Given the description of an element on the screen output the (x, y) to click on. 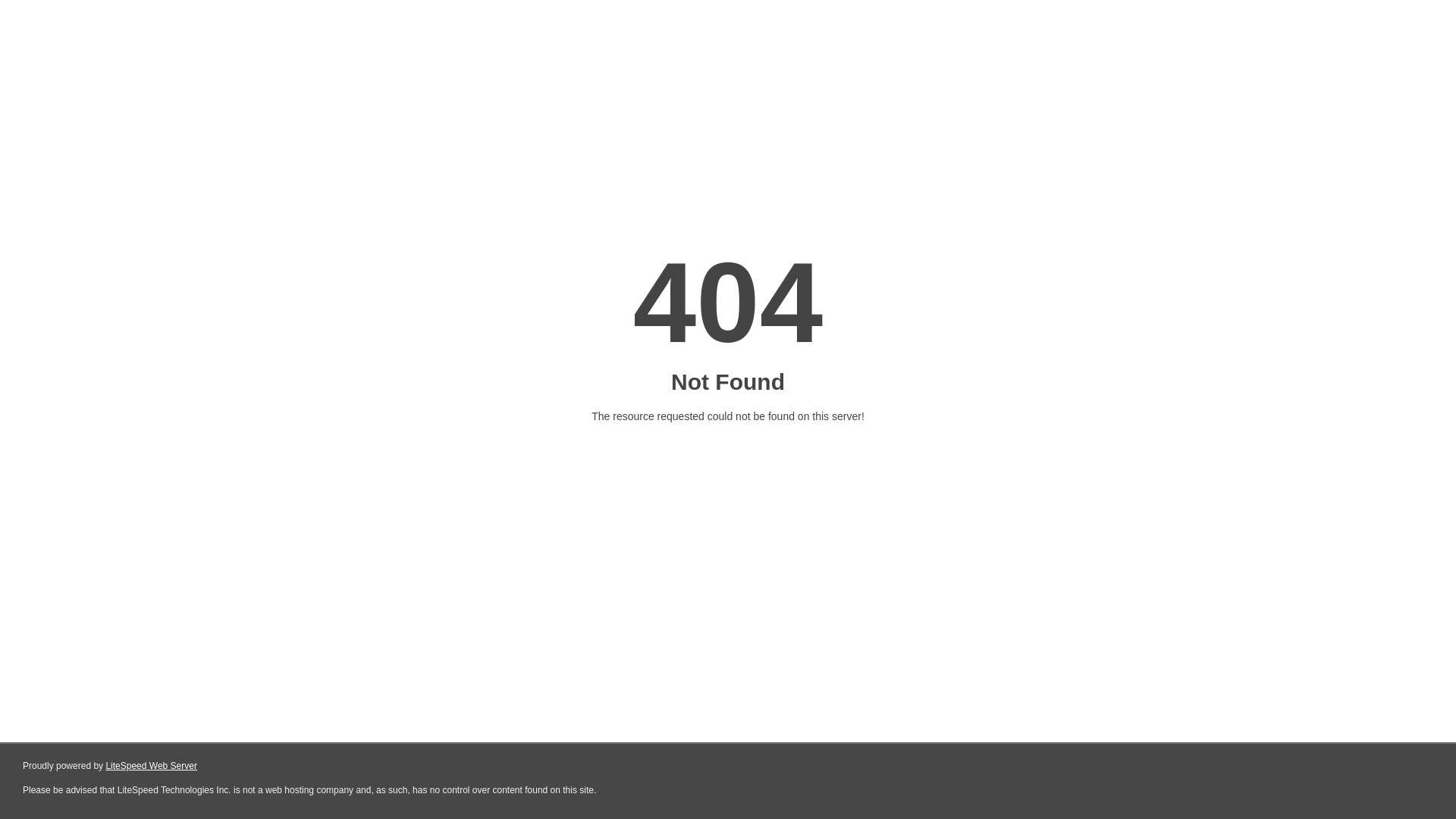
LiteSpeed Web Server Element type: text (151, 765)
